Given the description of an element on the screen output the (x, y) to click on. 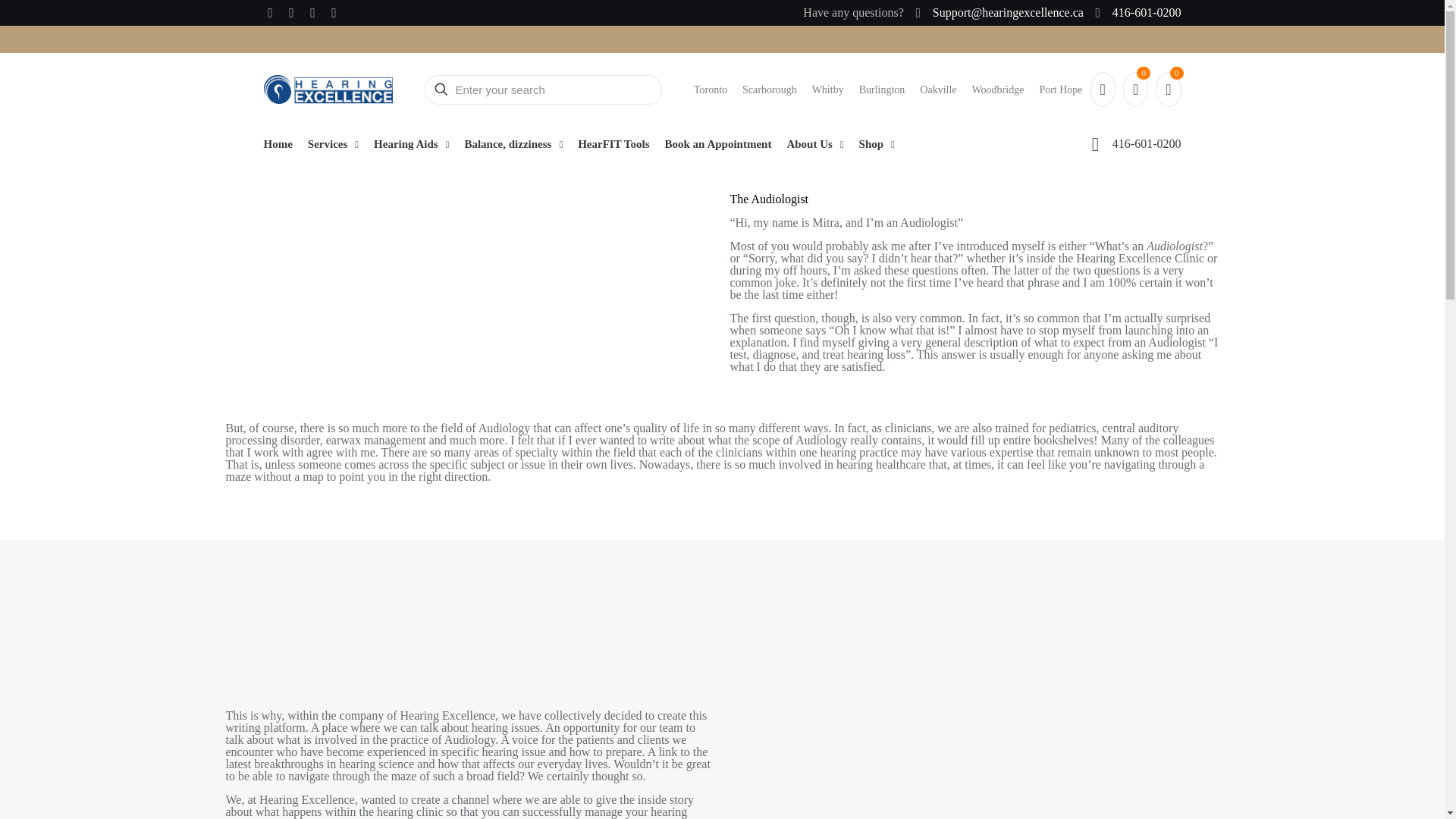
Scarborough (769, 90)
Home (277, 143)
Burlington (882, 90)
Woodbridge (998, 90)
Oakville (938, 90)
Toronto (710, 90)
Port Hope (1060, 90)
Services (332, 143)
0 (1168, 89)
0 (1135, 89)
Whitby (828, 90)
416-601-0200 (1135, 12)
